Given the description of an element on the screen output the (x, y) to click on. 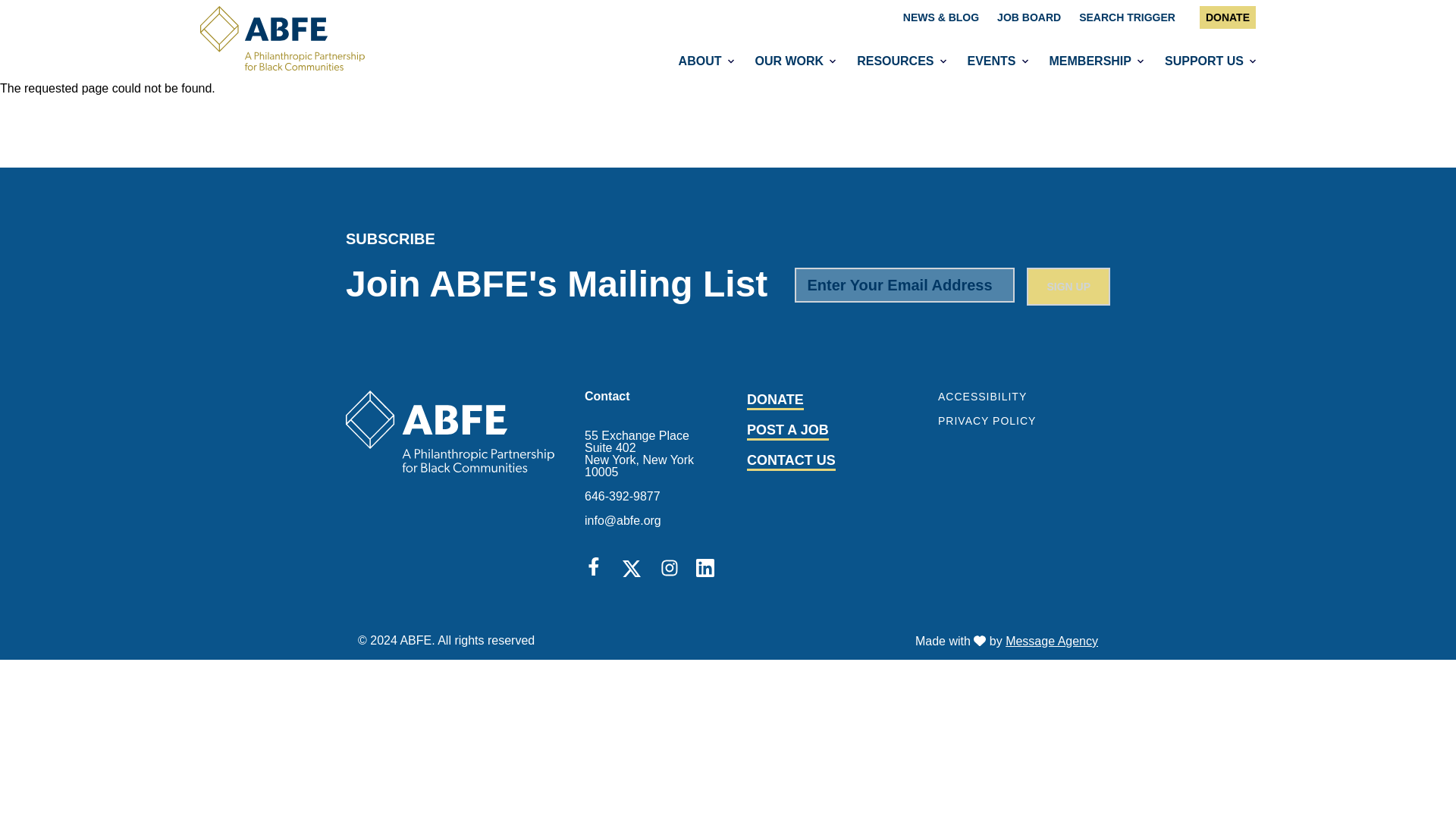
Twitter (634, 568)
MEMBERSHIP (1089, 60)
DONATE (1227, 16)
RESOURCES (893, 60)
ABOUT (698, 60)
EVENTS (990, 60)
JOB BOARD (1029, 17)
Linkedin (705, 567)
Sign Up (1067, 286)
SEARCH TRIGGER (1126, 17)
